Given the description of an element on the screen output the (x, y) to click on. 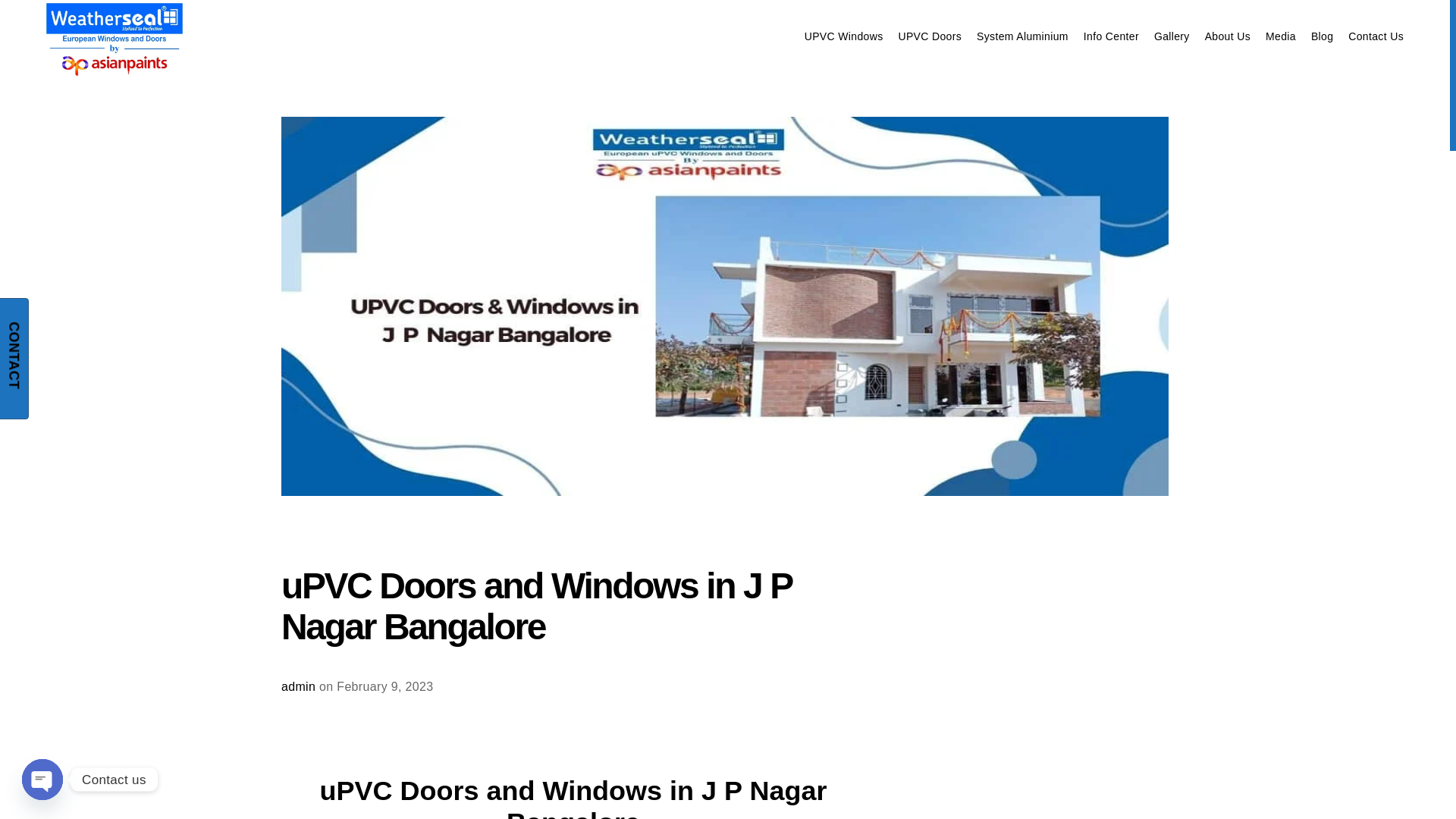
UPVC Windows (844, 36)
